Given the description of an element on the screen output the (x, y) to click on. 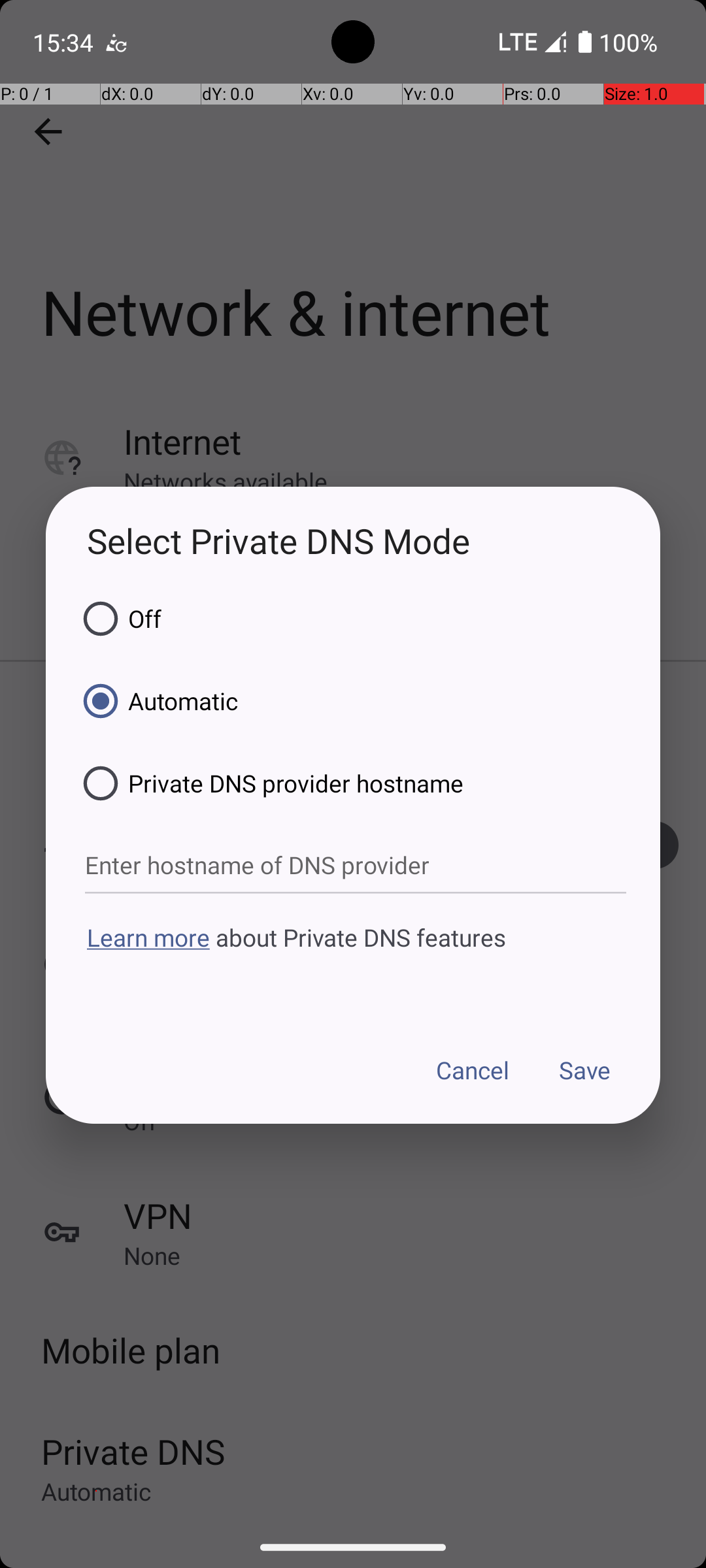
Select Private DNS Mode Element type: android.widget.TextView (352, 540)
Learn more about Private DNS features Element type: android.widget.TextView (352, 961)
Automatic Element type: android.widget.RadioButton (155, 700)
Private DNS provider hostname Element type: android.widget.RadioButton (268, 783)
Enter hostname of DNS provider Element type: android.widget.EditText (355, 865)
